Given the description of an element on the screen output the (x, y) to click on. 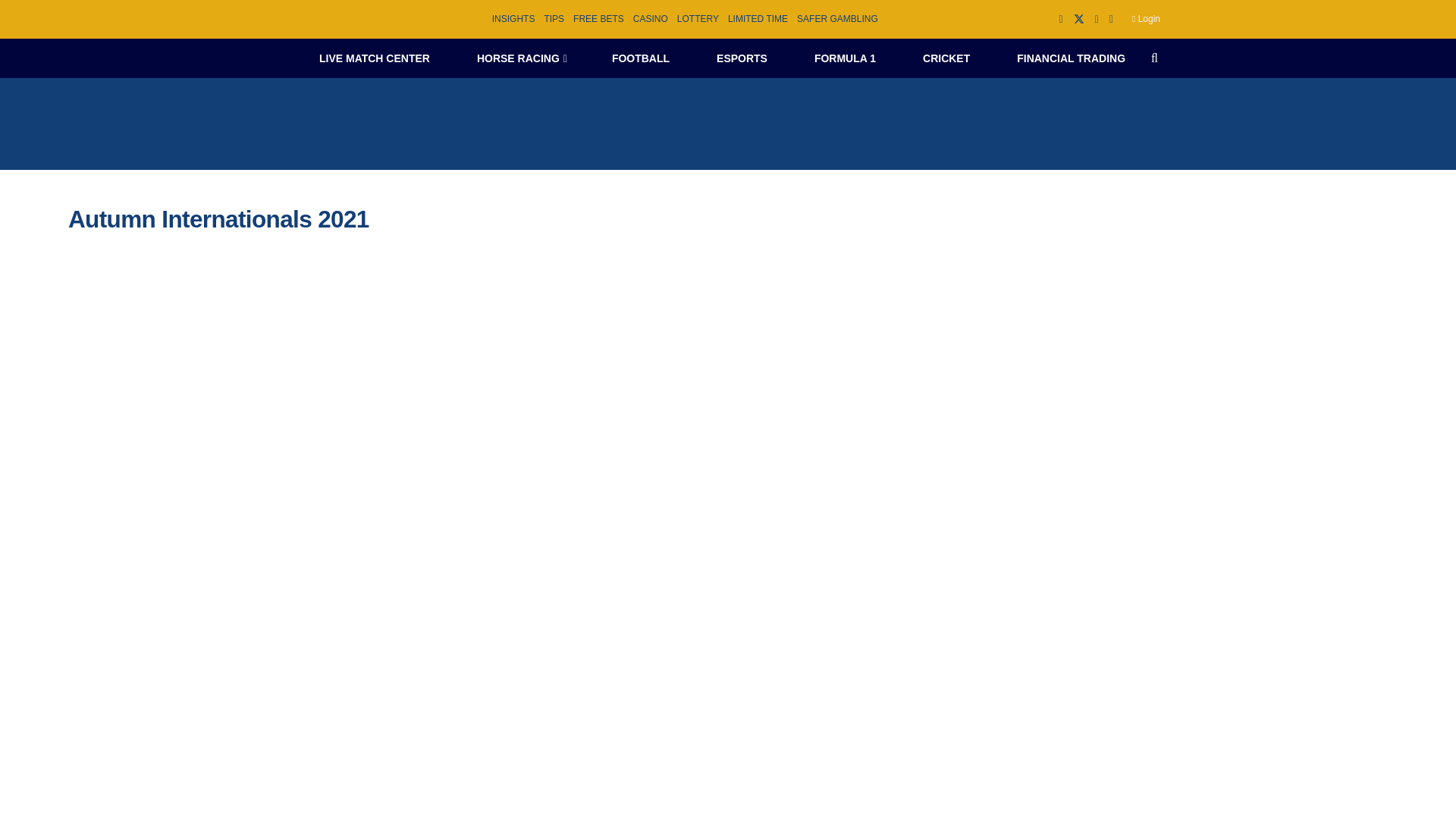
CRICKET (945, 57)
FORMULA 1 (844, 57)
HORSE RACING (520, 57)
FREE BETS (598, 19)
LIMITED TIME (757, 19)
FOOTBALL (640, 57)
INSIGHTS (513, 19)
FINANCIAL TRADING (1070, 57)
LOTTERY (698, 19)
LIVE MATCH CENTER (373, 57)
